Given the description of an element on the screen output the (x, y) to click on. 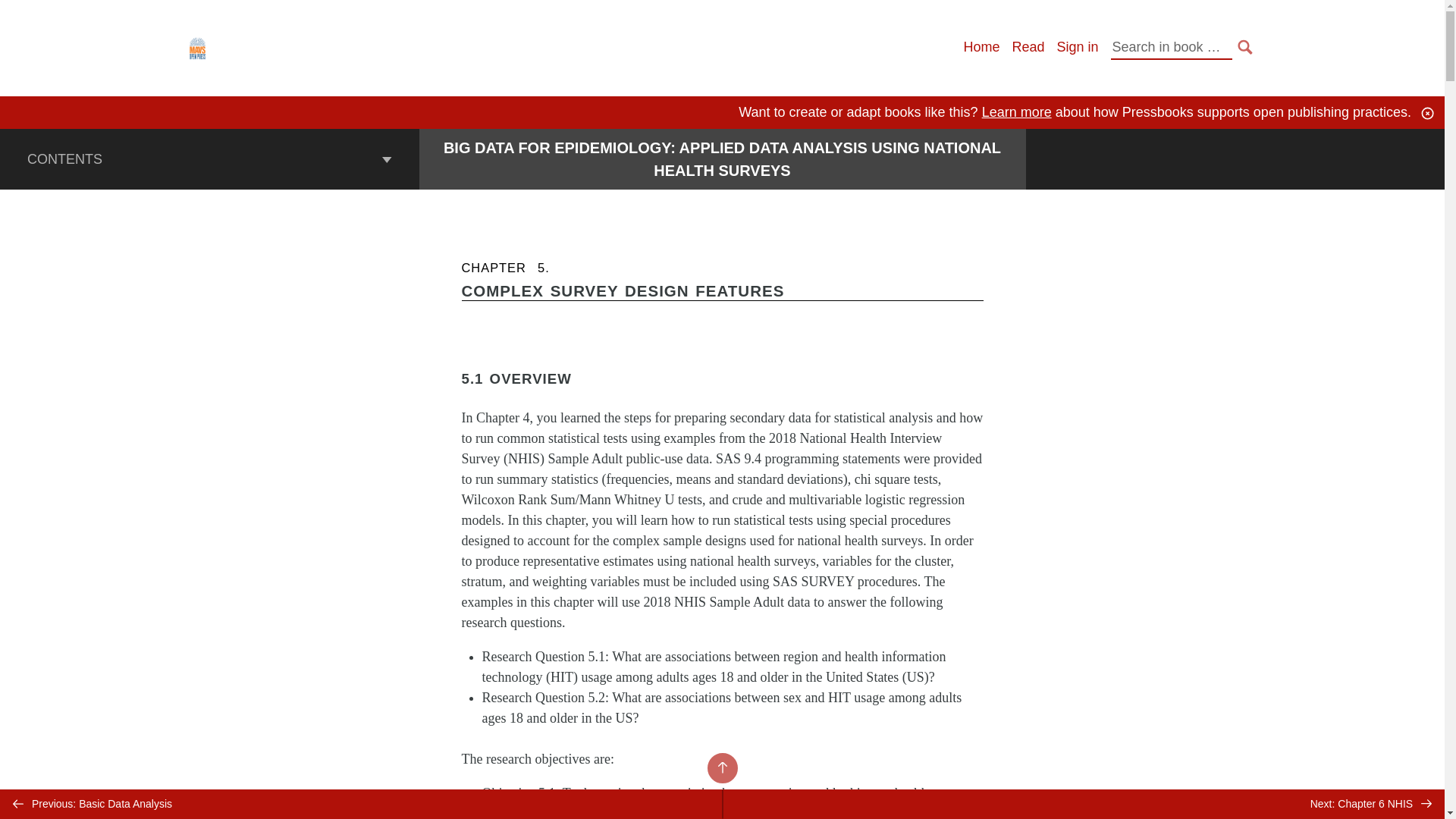
Learn more (1016, 111)
Read (1027, 46)
Sign in (1077, 46)
CONTENTS (209, 158)
BACK TO TOP (721, 767)
Home (980, 46)
Previous: Basic Data Analysis (361, 804)
Previous: Basic Data Analysis (361, 804)
